Given the description of an element on the screen output the (x, y) to click on. 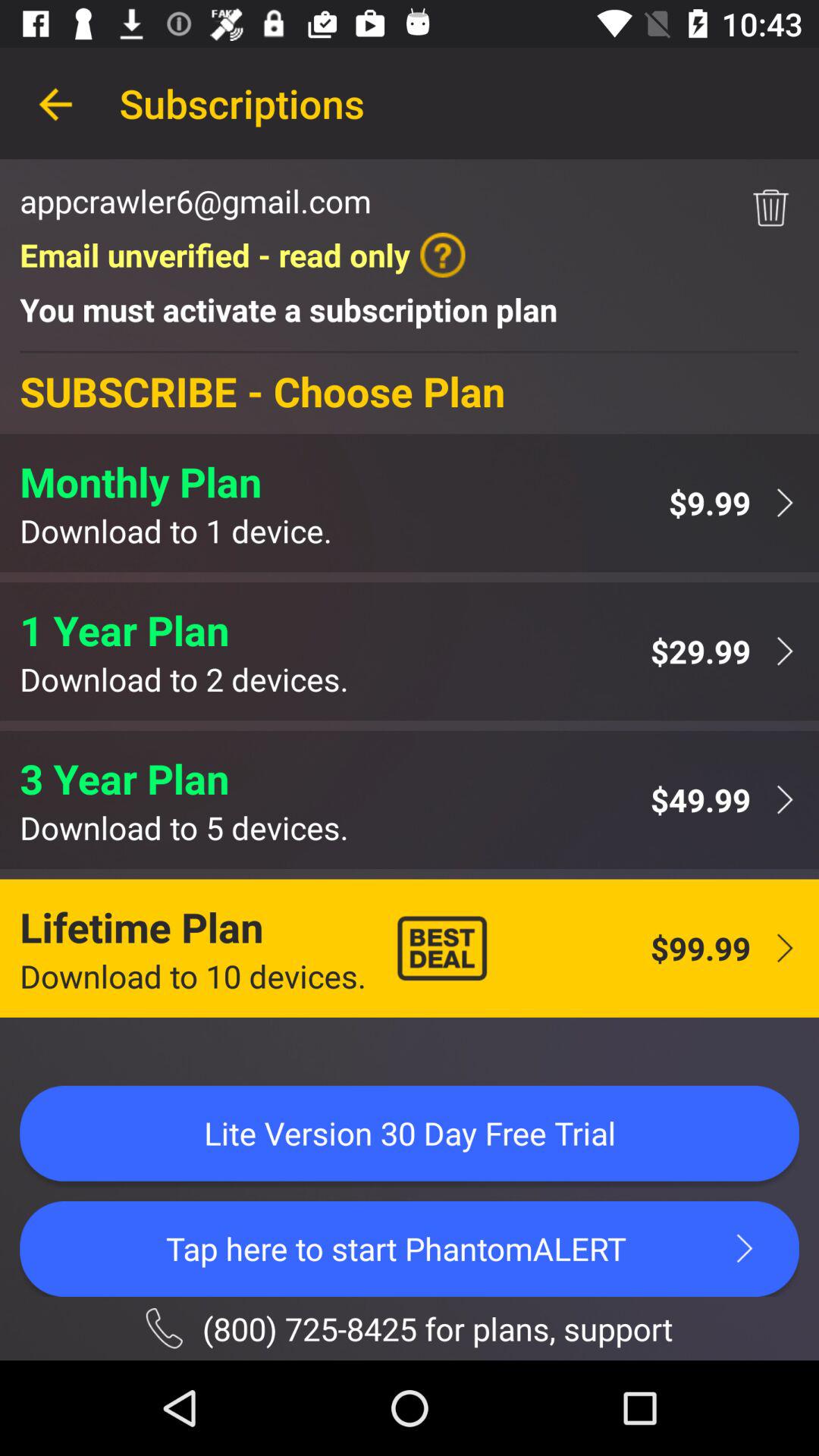
launch the item above the appcrawler6@gmail.com (55, 103)
